Given the description of an element on the screen output the (x, y) to click on. 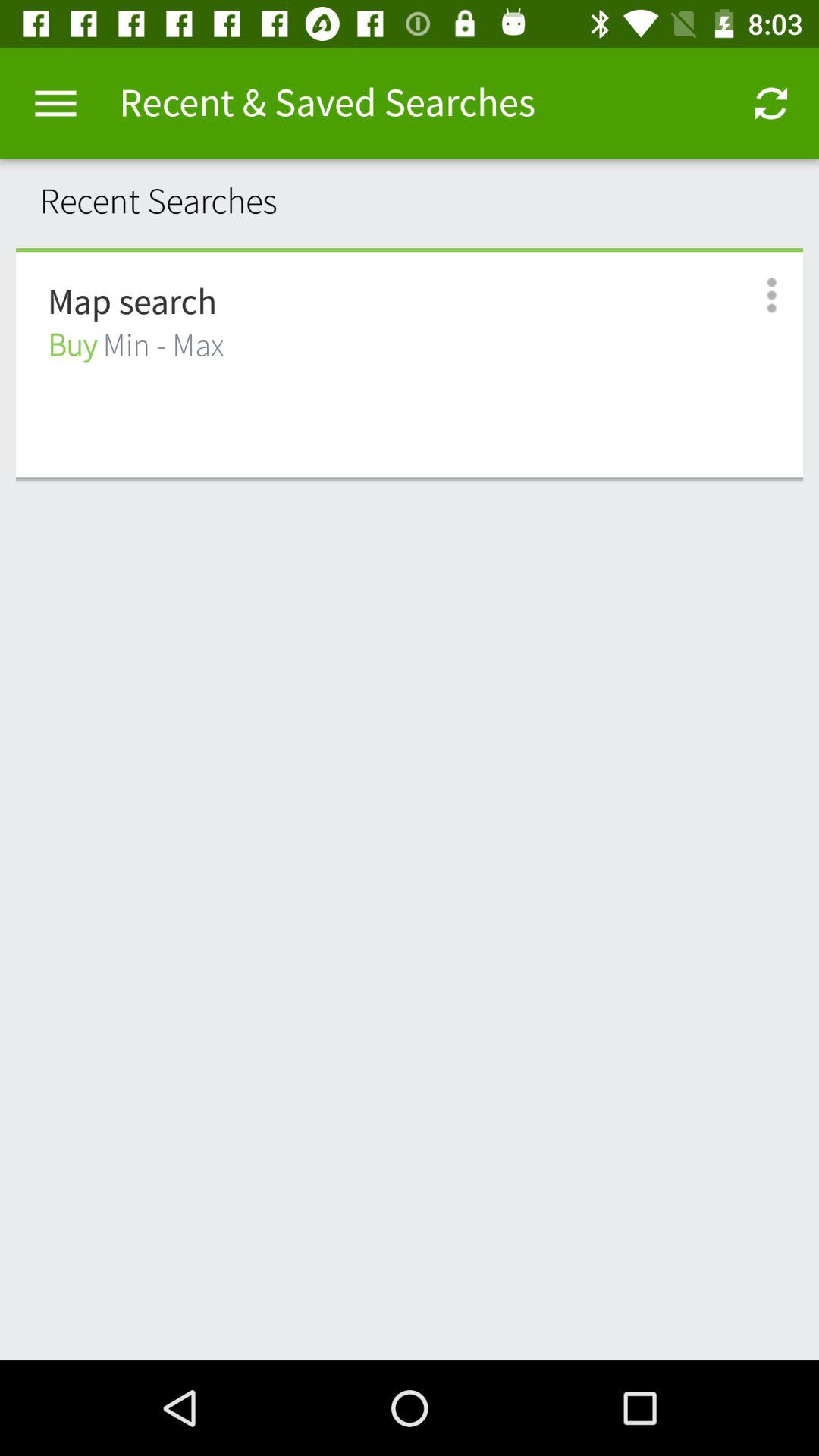
tap the item next to the recent & saved searches (771, 103)
